Given the description of an element on the screen output the (x, y) to click on. 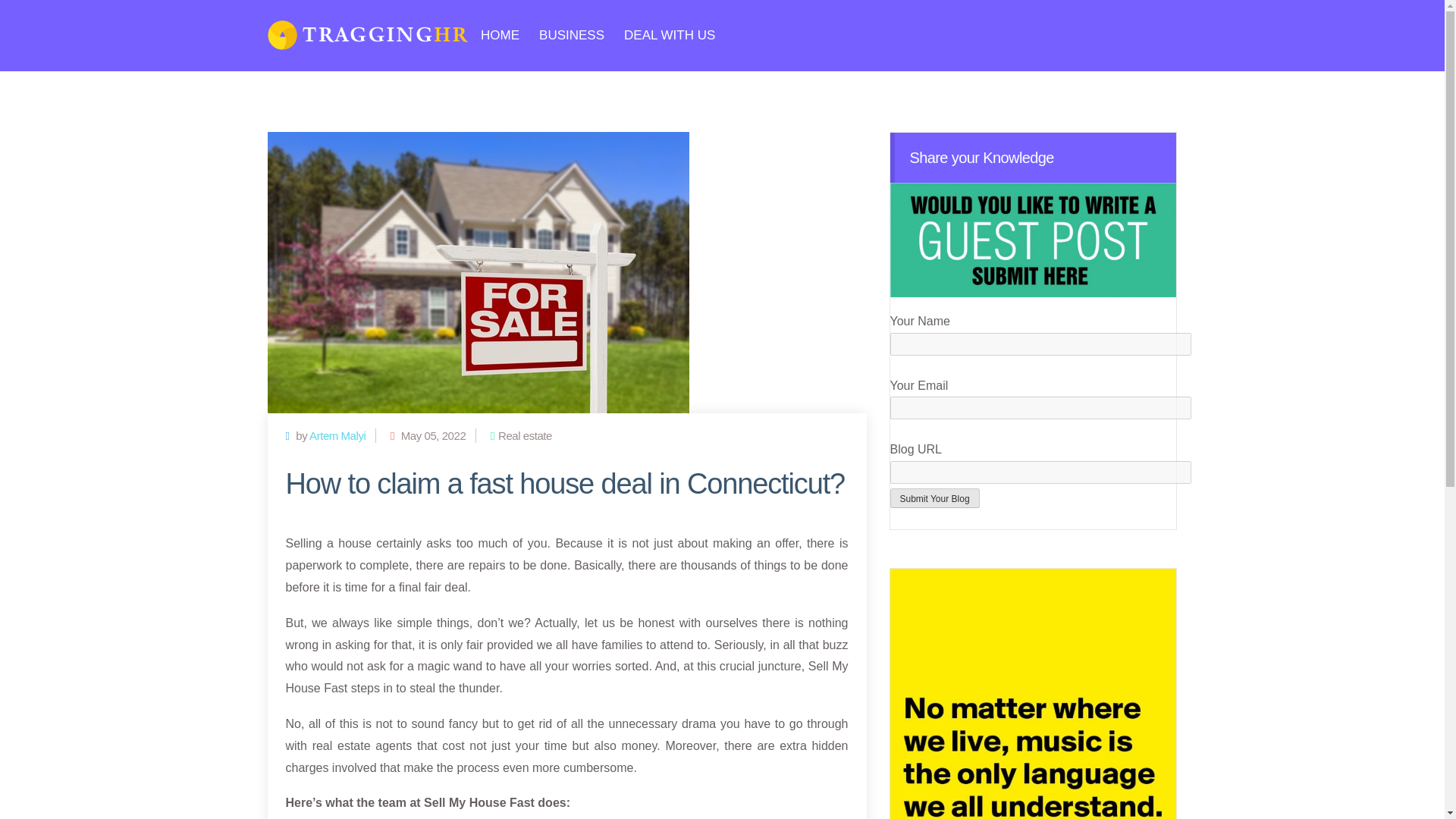
Submit Your Blog (934, 497)
Artem Malyi (336, 435)
BUSINESS (571, 35)
DEAL WITH US (669, 35)
Submit Your Blog (934, 497)
